Given the description of an element on the screen output the (x, y) to click on. 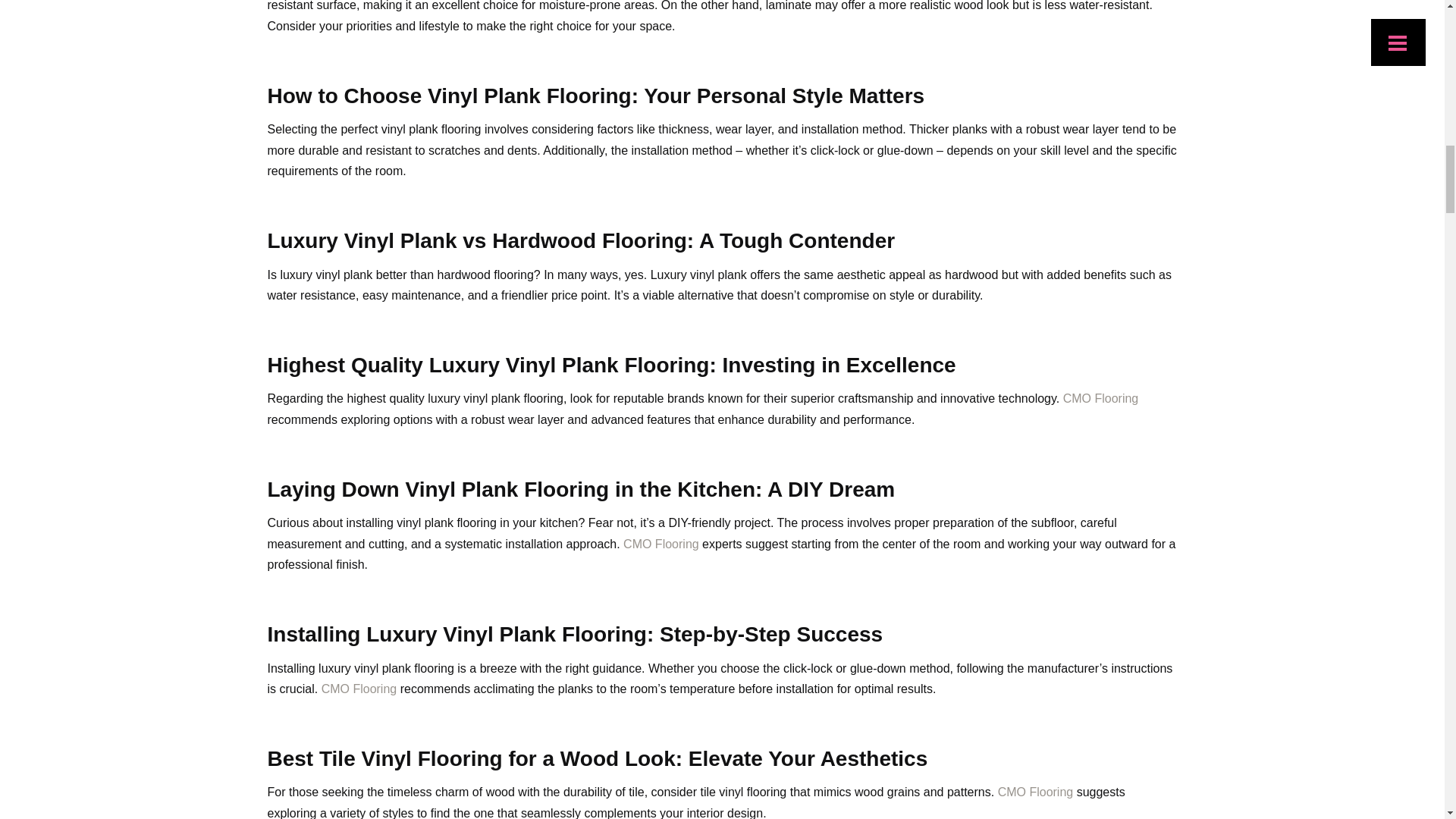
CMO Flooring (1100, 398)
CMO Flooring (359, 688)
CMO Flooring (660, 543)
CMO Flooring (1035, 791)
